Given the description of an element on the screen output the (x, y) to click on. 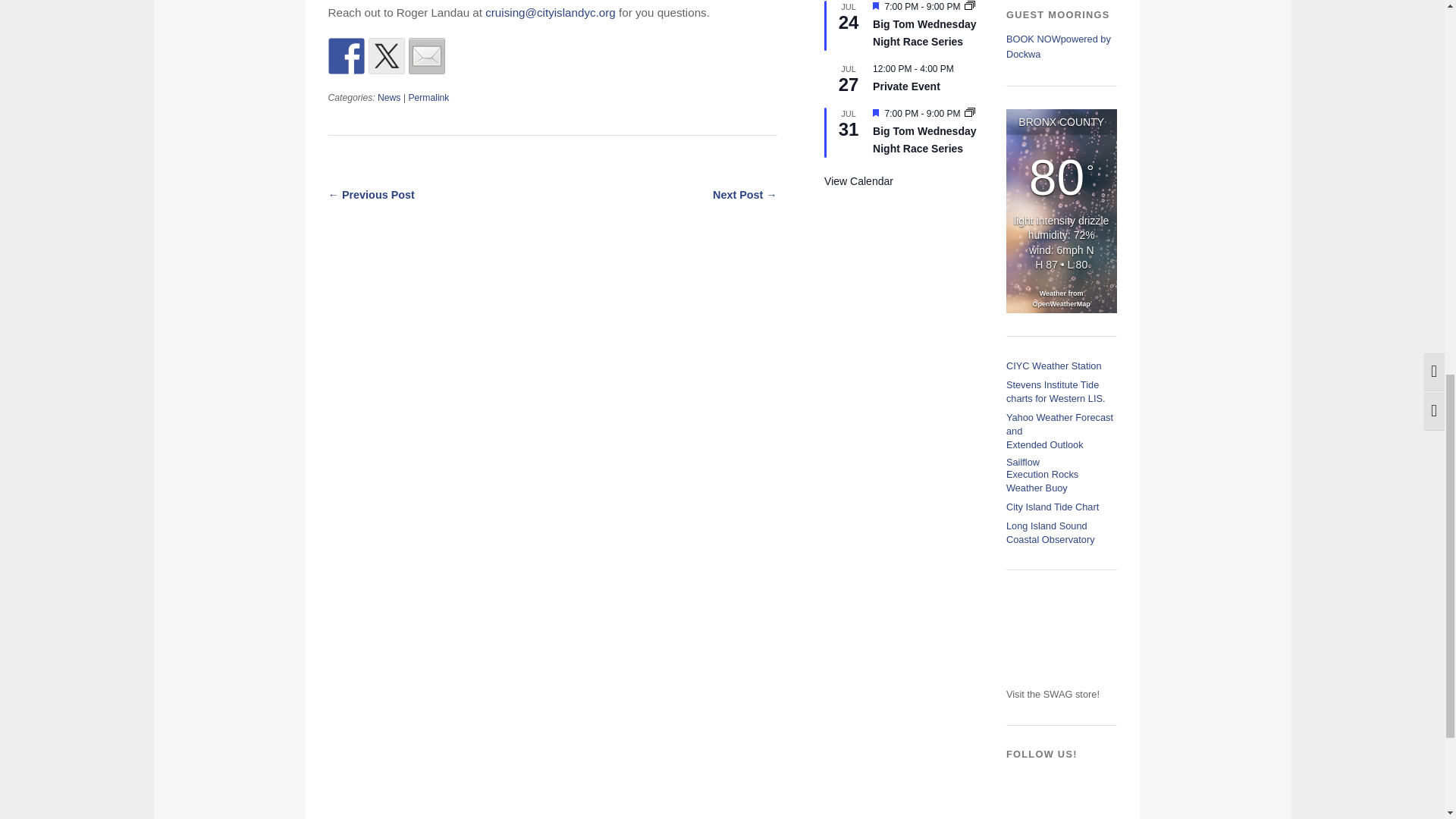
FareHarbor (1342, 64)
Permalink (427, 97)
News (388, 97)
